Given the description of an element on the screen output the (x, y) to click on. 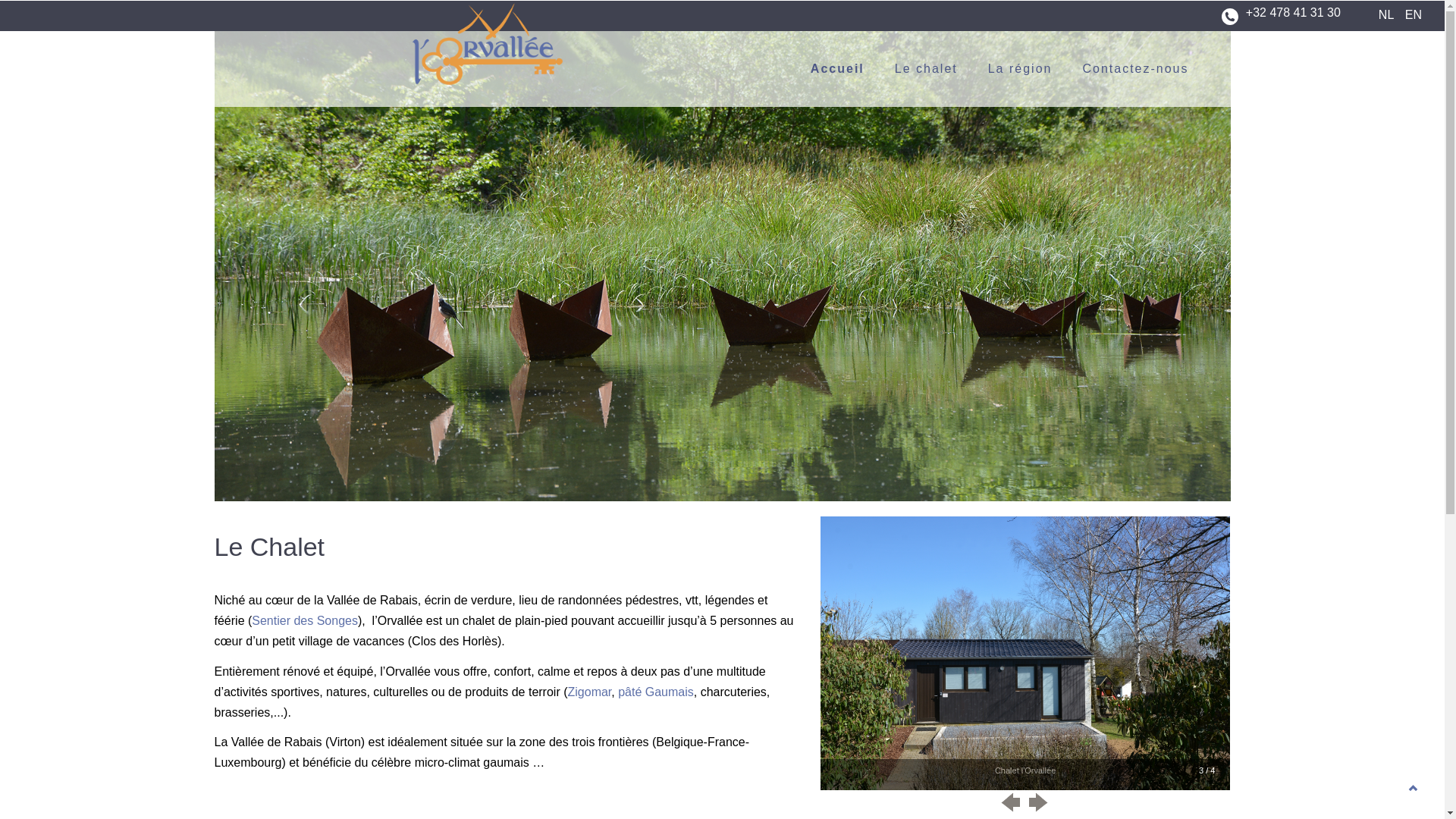
Sentier des Songes Element type: text (304, 620)
Accueil Element type: text (852, 68)
Zigomar Element type: text (589, 691)
top Element type: hover (1413, 791)
Contactez-nous Element type: text (1150, 68)
Le chalet Element type: text (941, 68)
EN Element type: text (1417, 14)
NL Element type: text (1389, 14)
+32 478 41 31 30 Element type: text (1292, 21)
